Given the description of an element on the screen output the (x, y) to click on. 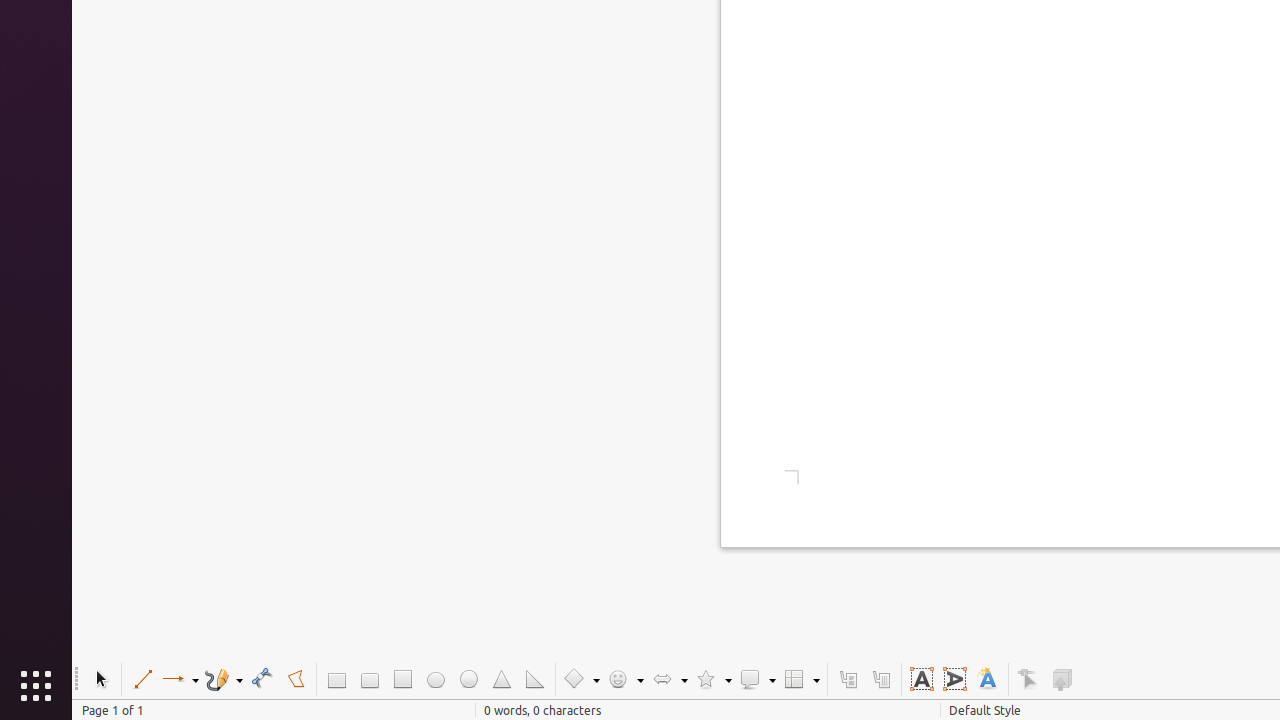
Circle Element type: push-button (468, 679)
Rectangle, Rounded Element type: push-button (369, 679)
Vertical Text Element type: toggle-button (954, 679)
Fontwork Style Element type: toggle-button (987, 679)
Callout Shapes Element type: push-button (757, 679)
